Given the description of an element on the screen output the (x, y) to click on. 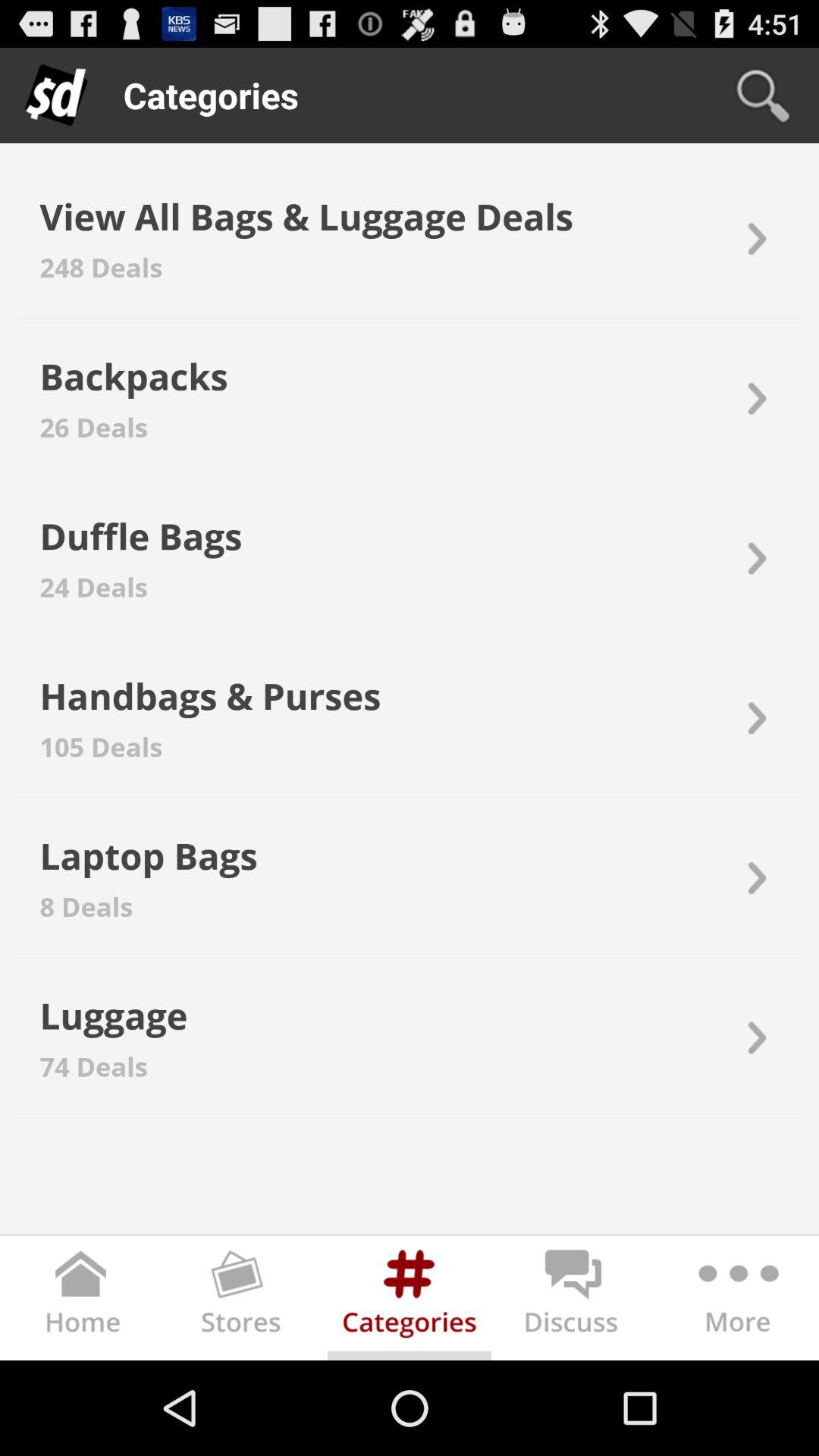
open the discuss tab (573, 1301)
